Given the description of an element on the screen output the (x, y) to click on. 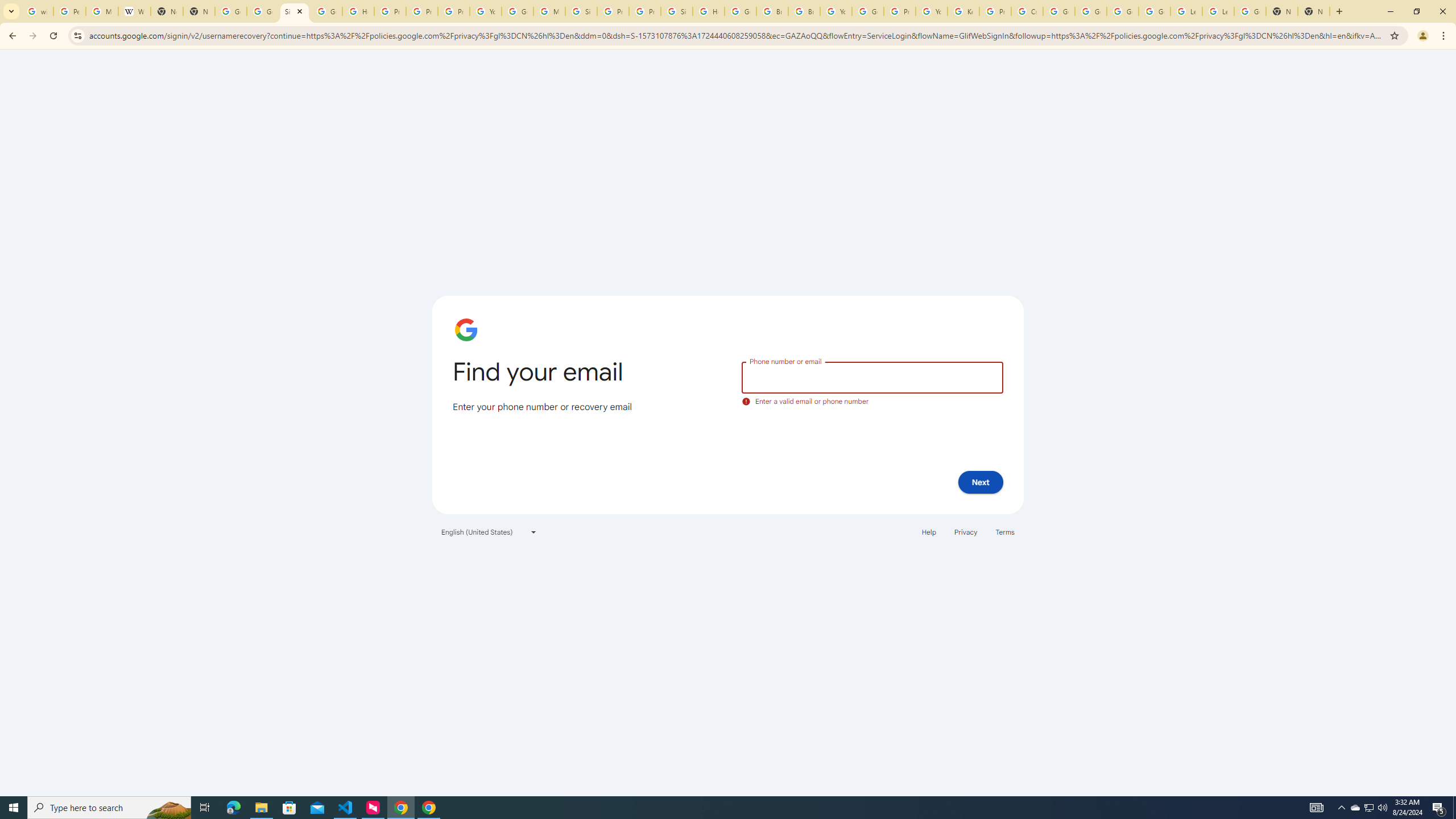
Google Account Help (1123, 11)
Google Account (1249, 11)
Phone number or email (871, 376)
YouTube (836, 11)
YouTube (485, 11)
Manage your Location History - Google Search Help (101, 11)
Wikipedia:Edit requests - Wikipedia (134, 11)
